Given the description of an element on the screen output the (x, y) to click on. 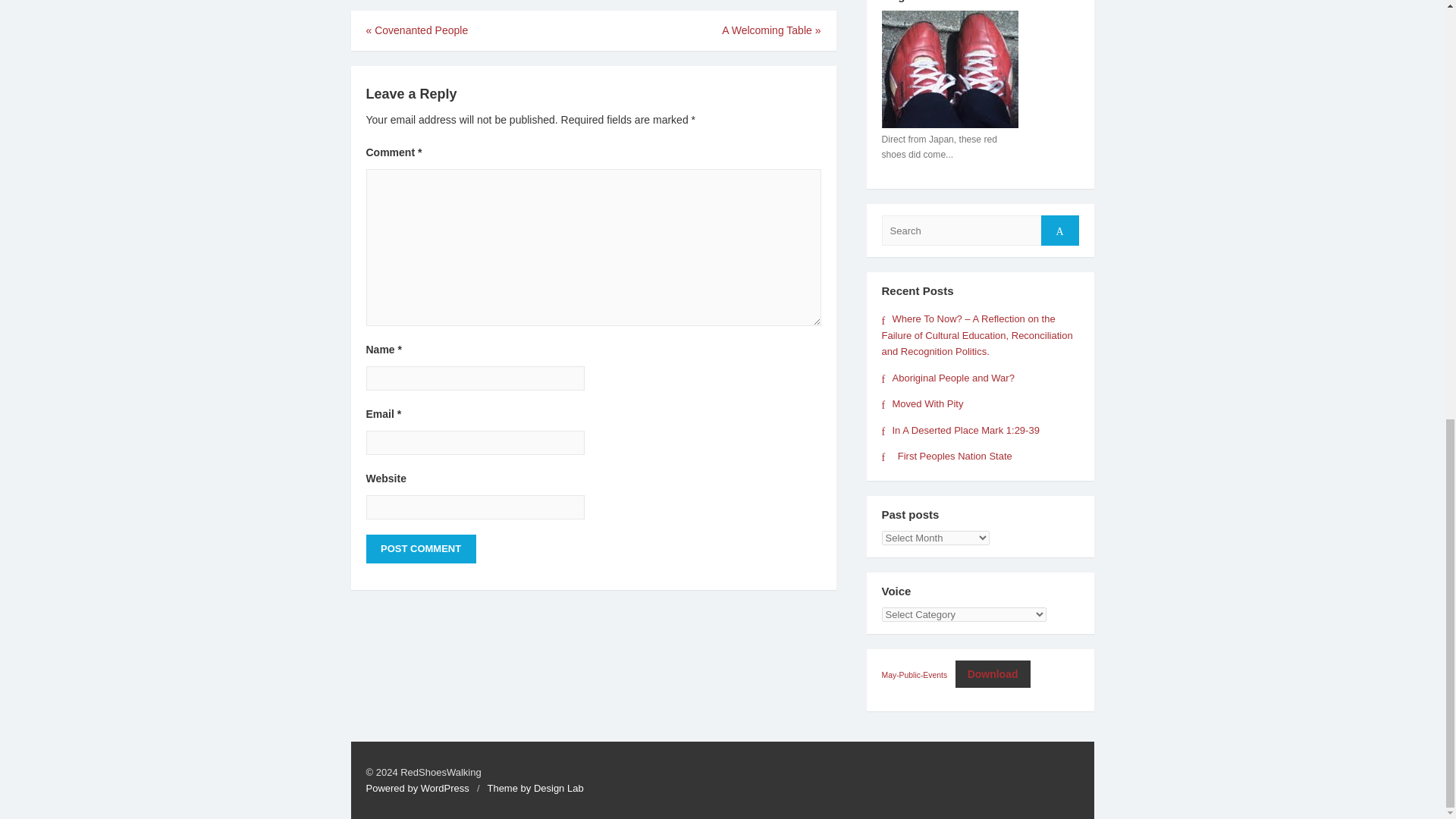
Aboriginal People and War? (946, 378)
Post Comment (420, 548)
Download (992, 673)
In A Deserted Place Mark 1:29-39 (959, 430)
Theme by Design Lab (534, 787)
May-Public-Events (913, 674)
Search (1059, 230)
Moved With Pity (921, 403)
Powered by WordPress (416, 787)
Post Comment (420, 548)
  First Peoples Nation State (945, 455)
